Given the description of an element on the screen output the (x, y) to click on. 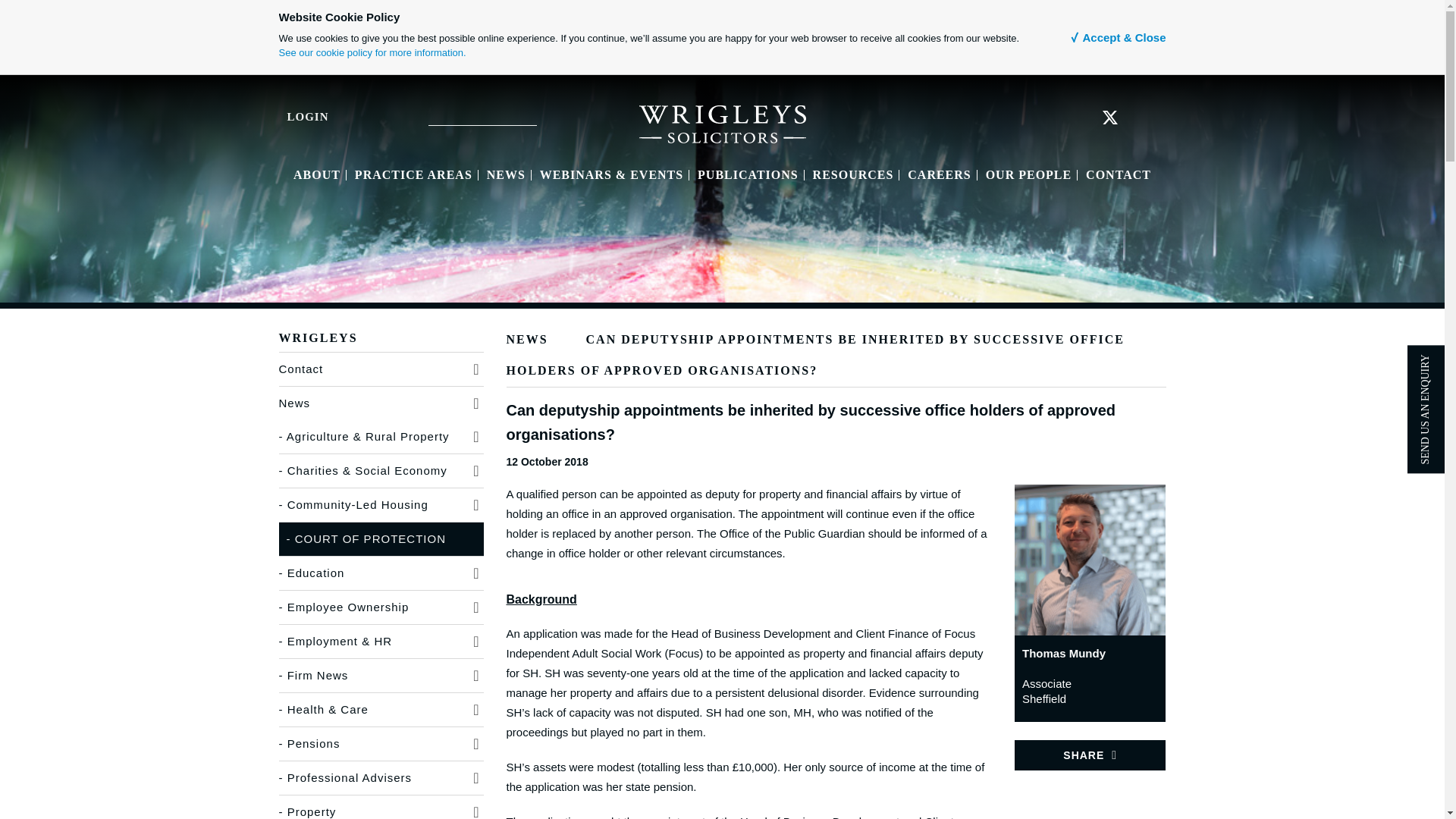
See our cookie policy for more information. (372, 52)
ABOUT (317, 174)
LOGIN (292, 115)
Wrigleys Solicitors (722, 123)
Thomas Mundy (1090, 559)
PRACTICE AREAS (413, 174)
